Given the description of an element on the screen output the (x, y) to click on. 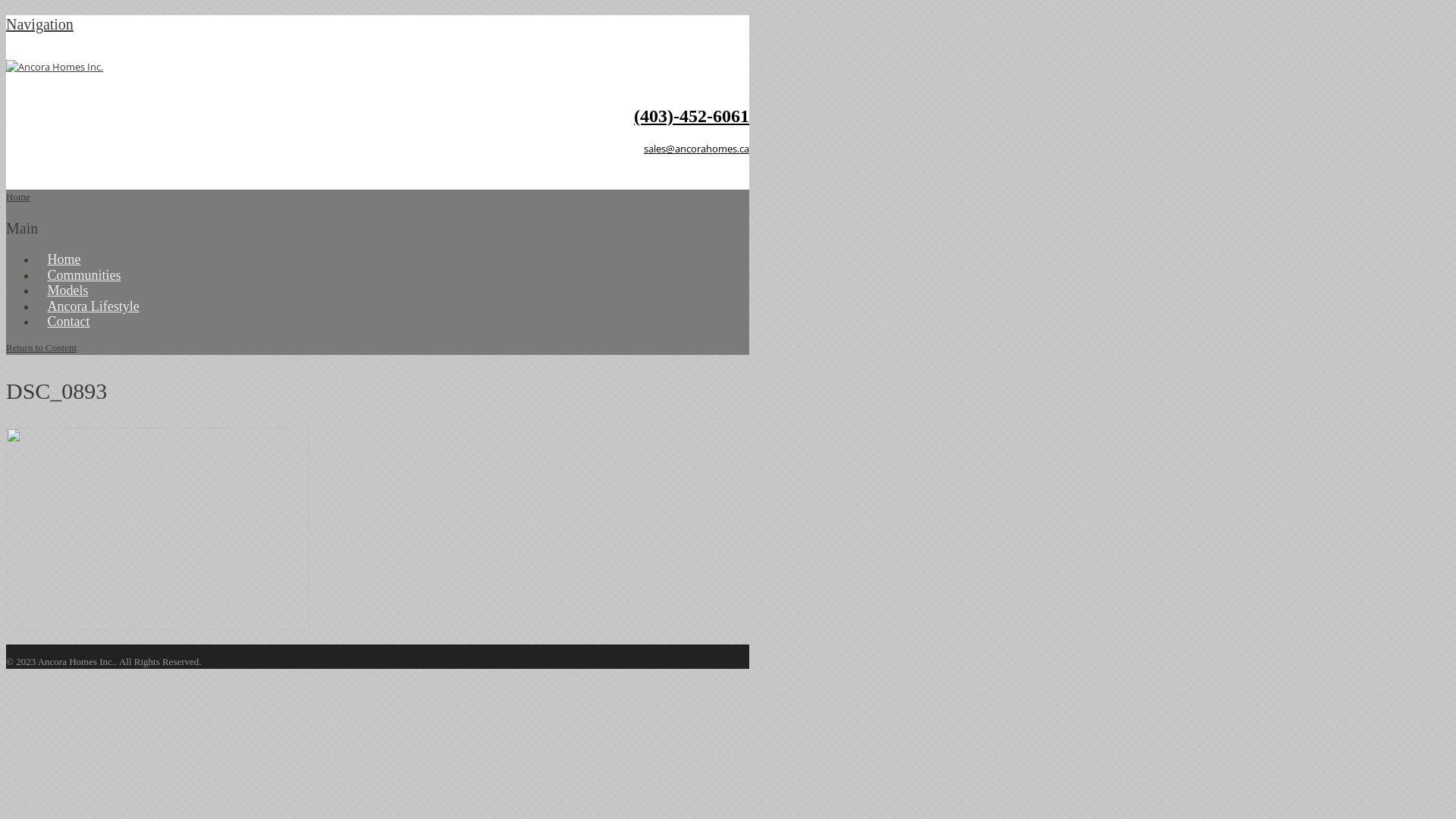
Return to Content Element type: text (41, 347)
Home Element type: text (63, 258)
Navigation Element type: text (39, 23)
Contact Element type: text (68, 321)
Ancora Lifestyle Element type: text (93, 305)
Models Element type: text (67, 290)
sales@ancorahomes.ca Element type: text (696, 148)
Communities Element type: text (83, 274)
(403)-452-6061 Element type: text (691, 115)
Home Element type: text (18, 196)
